Given the description of an element on the screen output the (x, y) to click on. 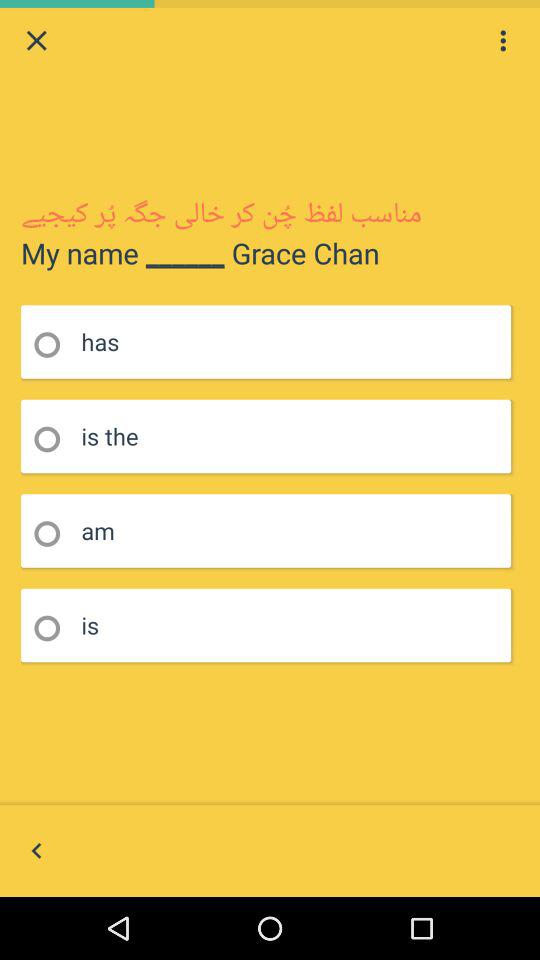
close the current window (36, 40)
